Given the description of an element on the screen output the (x, y) to click on. 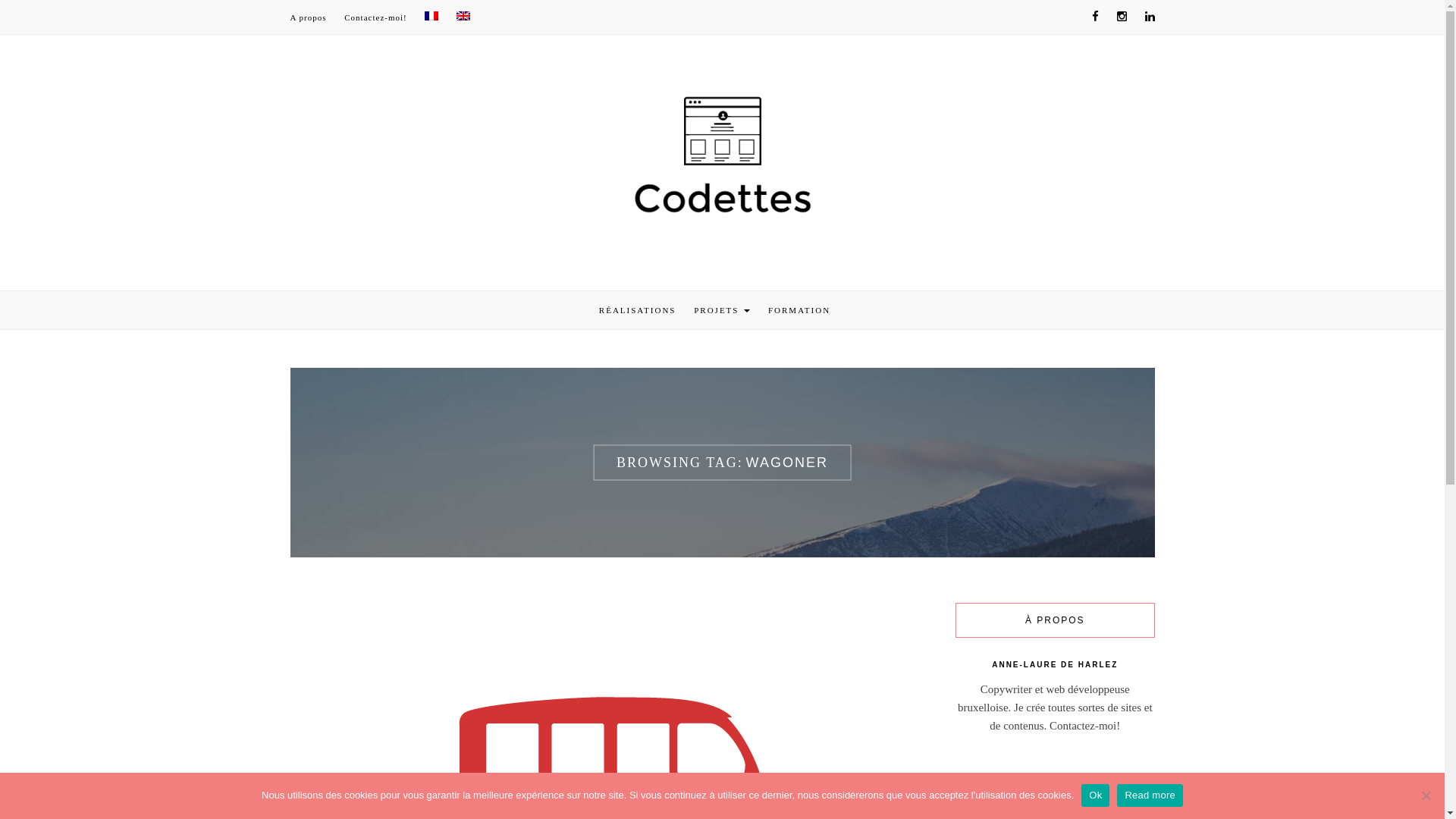
Read more Element type: text (1150, 795)
Non Element type: hover (1425, 795)
PROJETS Element type: text (721, 310)
Ok Element type: text (1095, 795)
Contactez-moi! Element type: text (375, 16)
FORMATION Element type: text (799, 310)
A propos Element type: text (307, 16)
